Given the description of an element on the screen output the (x, y) to click on. 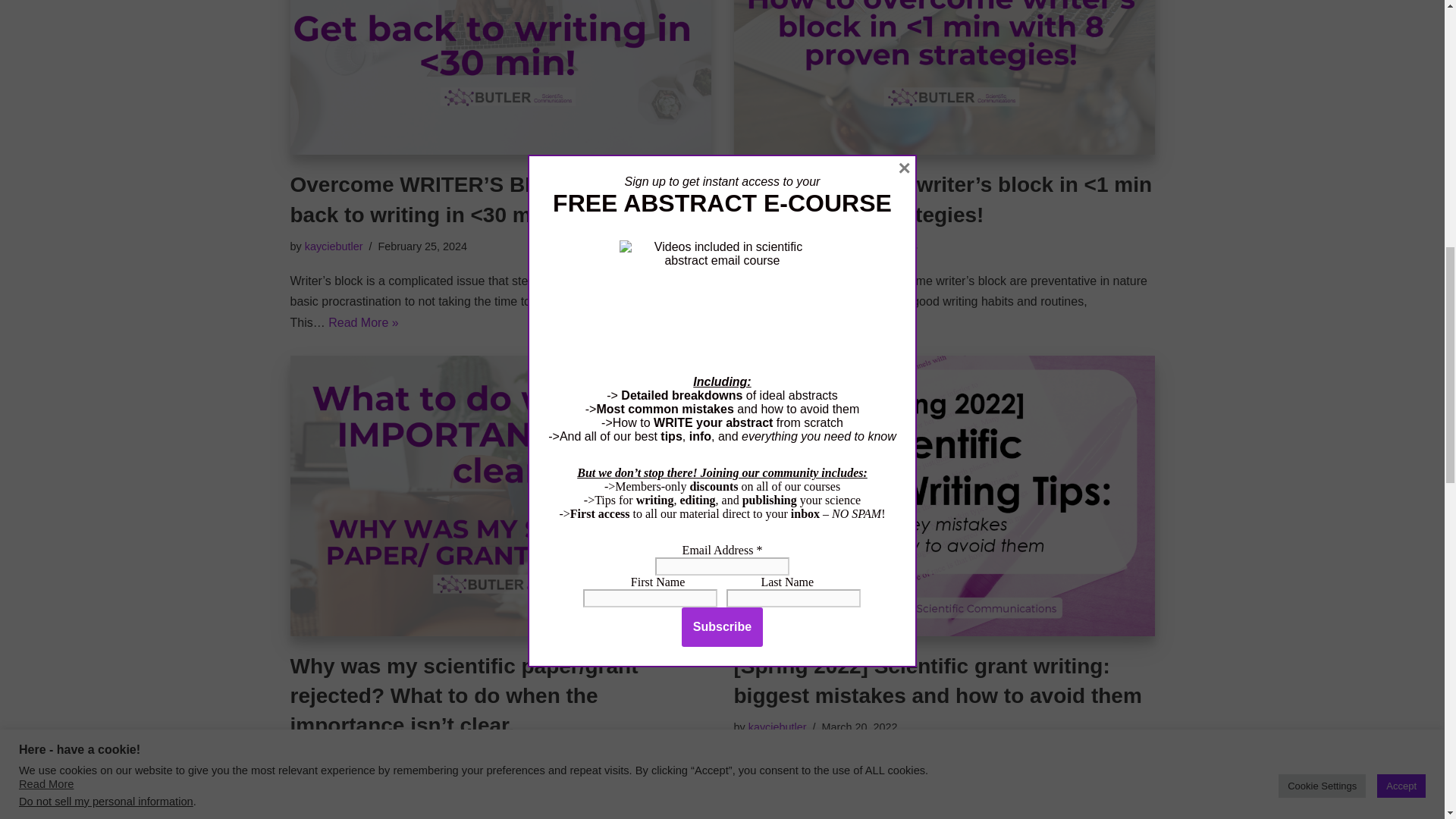
Posts by kayciebutler (777, 246)
Posts by kayciebutler (777, 727)
Posts by kayciebutler (333, 246)
Posts by kayciebutler (333, 756)
